Given the description of an element on the screen output the (x, y) to click on. 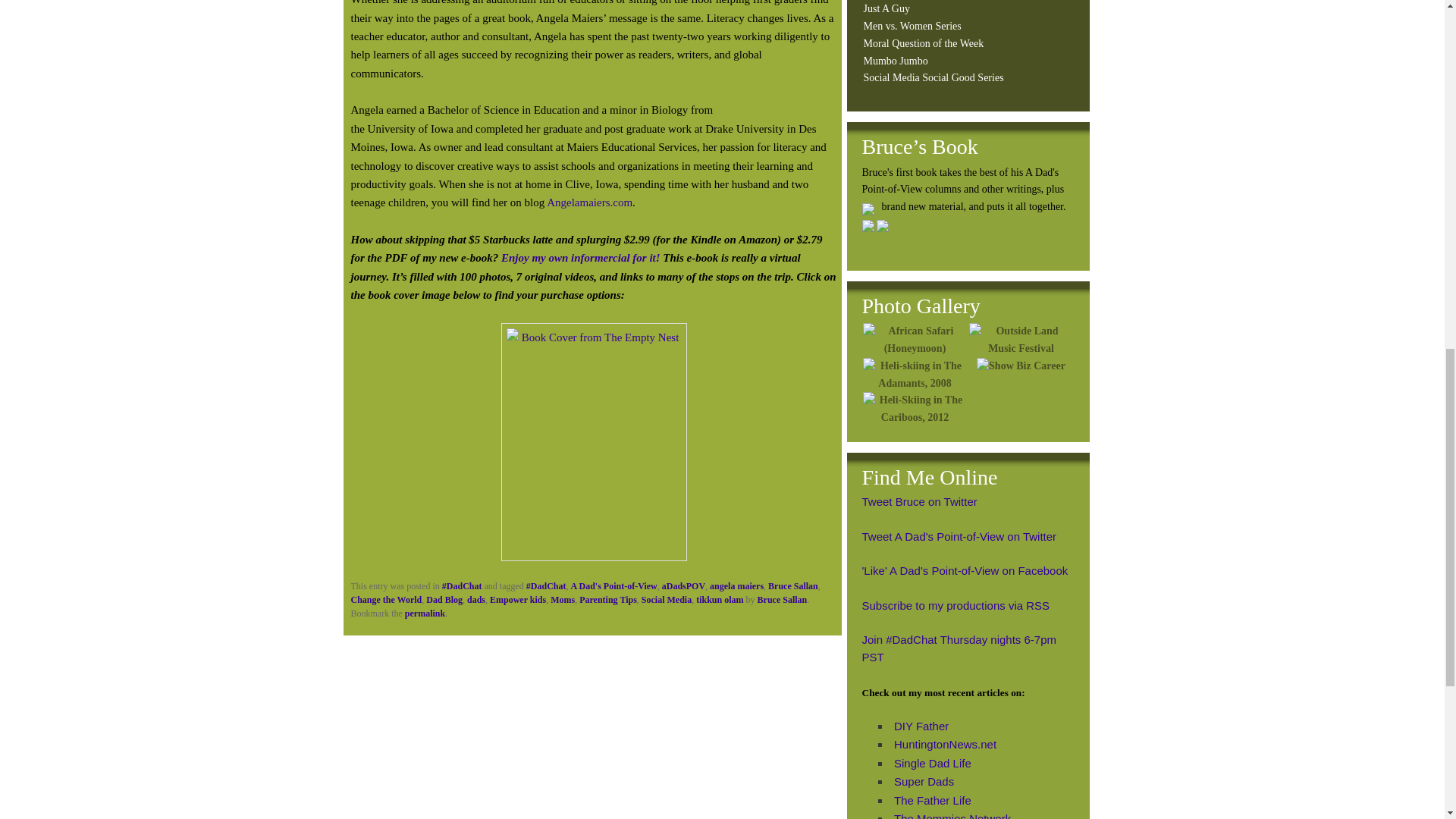
aDadsPOV (683, 585)
Bruce Sallan (793, 585)
Enjoy my own informercial for it! (580, 257)
Dad Blog (444, 599)
angela maiers (736, 585)
dads (475, 599)
Moms (562, 599)
Angelamaiers.com (589, 202)
A Dad's Point-of-View (614, 585)
Heli-skiing in The Adamants, 2008 (914, 375)
Change the World (386, 599)
Empower kids (517, 599)
Outside Land Music Festival (1021, 339)
